Given the description of an element on the screen output the (x, y) to click on. 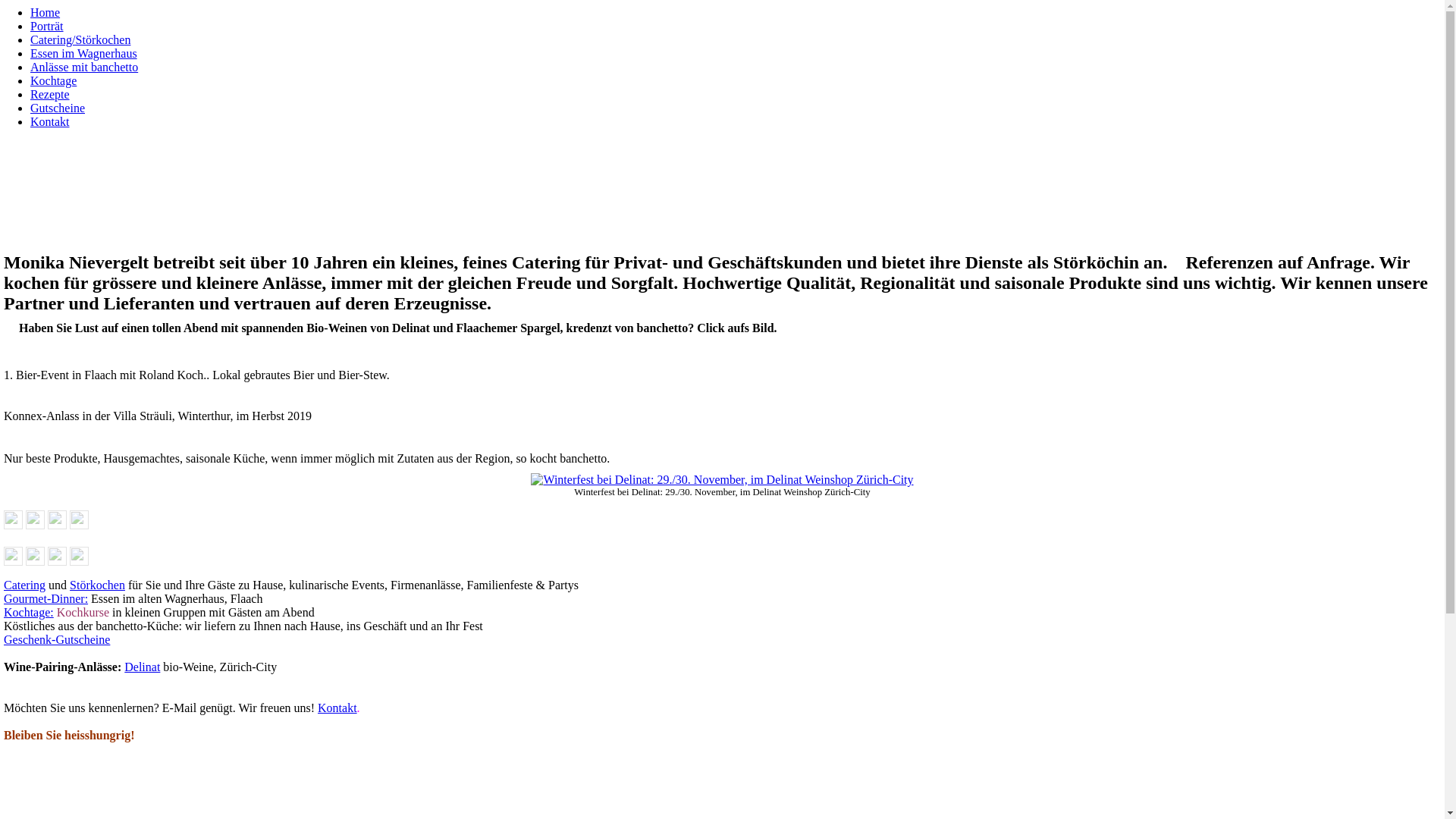
Geschenk-Gutscheine Element type: text (56, 639)
Gourmet-Dinner: Element type: text (45, 598)
Kontakt Element type: text (49, 121)
Gutscheine Element type: text (57, 107)
Catering Element type: text (24, 584)
Home Element type: text (44, 12)
Kochtage Element type: text (53, 80)
Essen im Wagnerhaus Element type: text (83, 53)
Rezepte Element type: text (49, 93)
Delinat Element type: text (142, 666)
Kontakt Element type: text (337, 707)
Kochtage: Element type: text (28, 611)
